Given the description of an element on the screen output the (x, y) to click on. 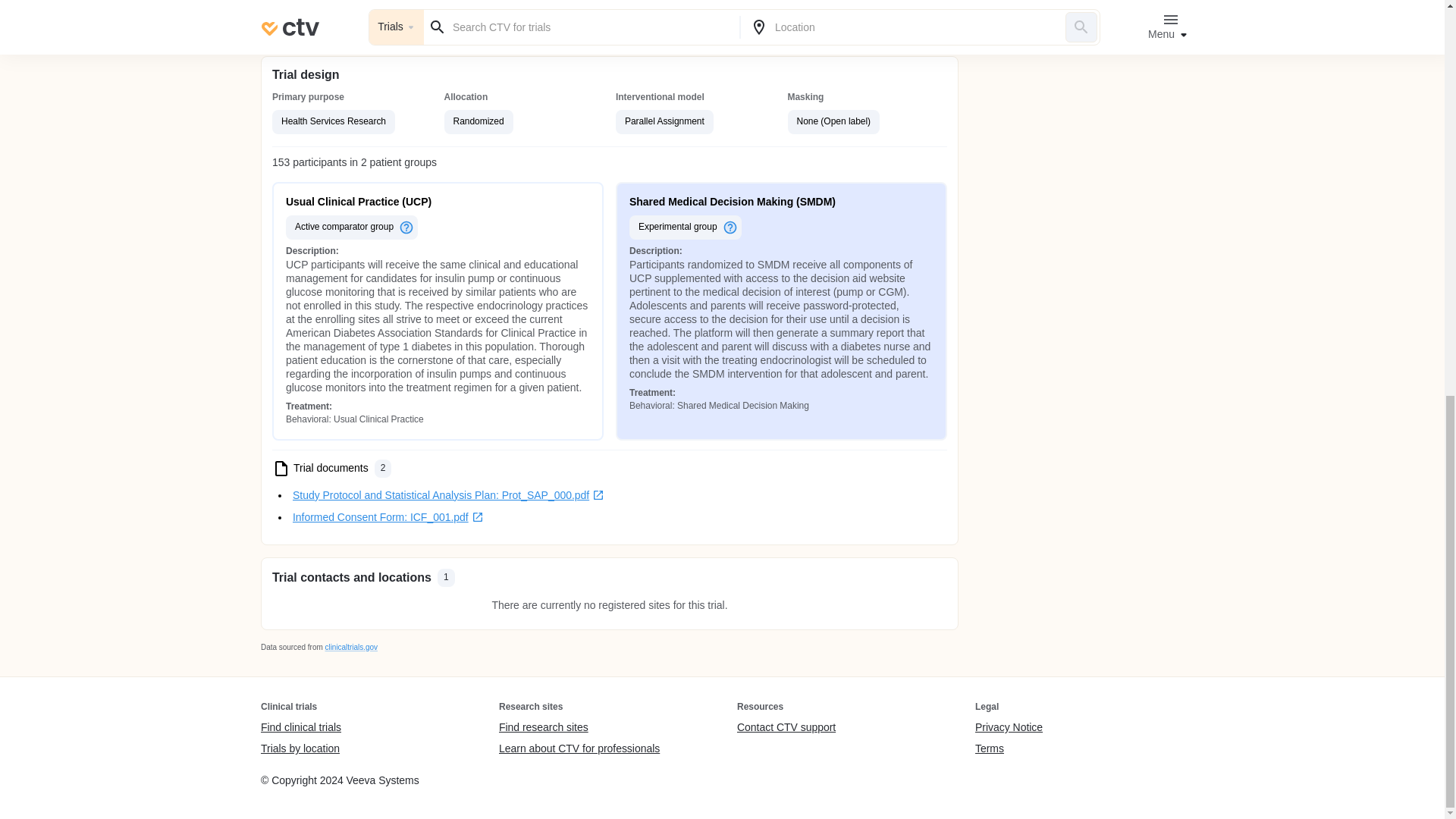
Contact CTV support (785, 727)
Find research sites (579, 727)
Trials by location (300, 748)
Terms (1008, 748)
clinicaltrials.gov (350, 646)
Privacy Notice (1008, 727)
Learn about CTV for professionals (579, 748)
Find clinical trials (300, 727)
